Given the description of an element on the screen output the (x, y) to click on. 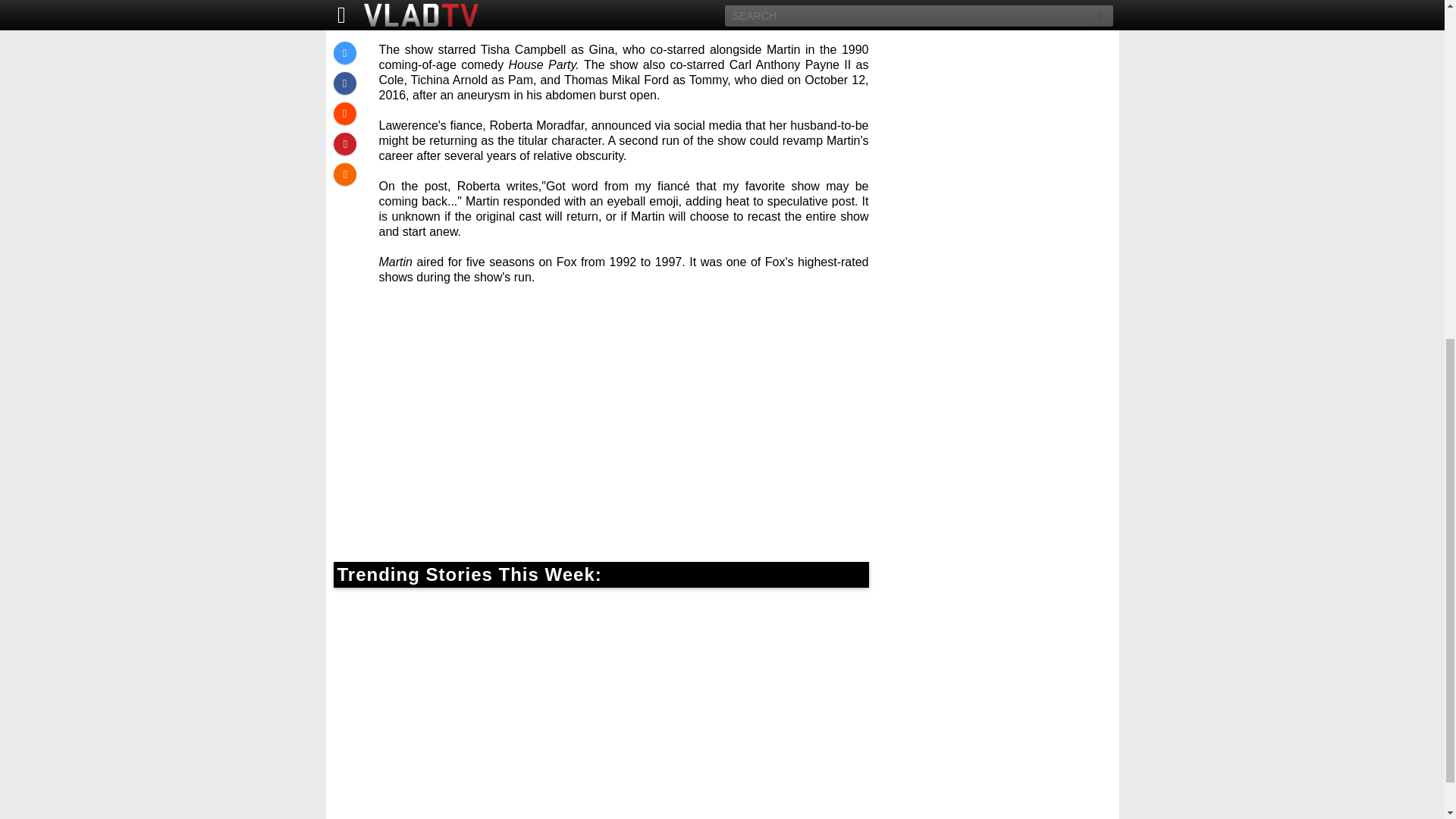
Icon: Email Link To Article (344, 114)
Icon: Post To Reddit (344, 53)
Icon: Post To Facebook (344, 23)
Icon: Post To Twitter (344, 2)
Icon: Post To Pinterest (344, 83)
